Given the description of an element on the screen output the (x, y) to click on. 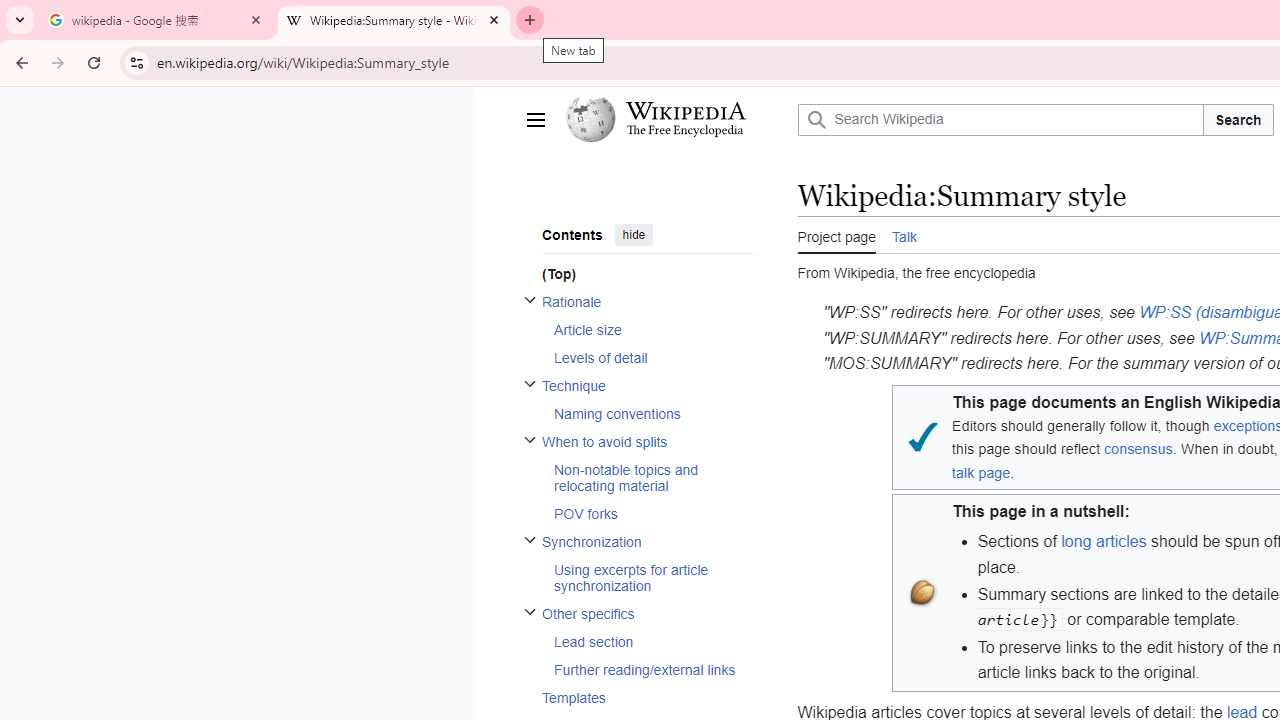
consensus (1138, 448)
Templates (649, 697)
hide (633, 234)
Article size (654, 329)
Main menu (534, 119)
(Top) (649, 273)
AutomationID: toc-Lead_section (649, 641)
AutomationID: toc-Technique (642, 398)
AutomationID: toc-POV_forks (649, 512)
AutomationID: toc-Other_specifics (642, 641)
Blue tick (922, 436)
Naming conventions (654, 412)
Technique (649, 385)
